Given the description of an element on the screen output the (x, y) to click on. 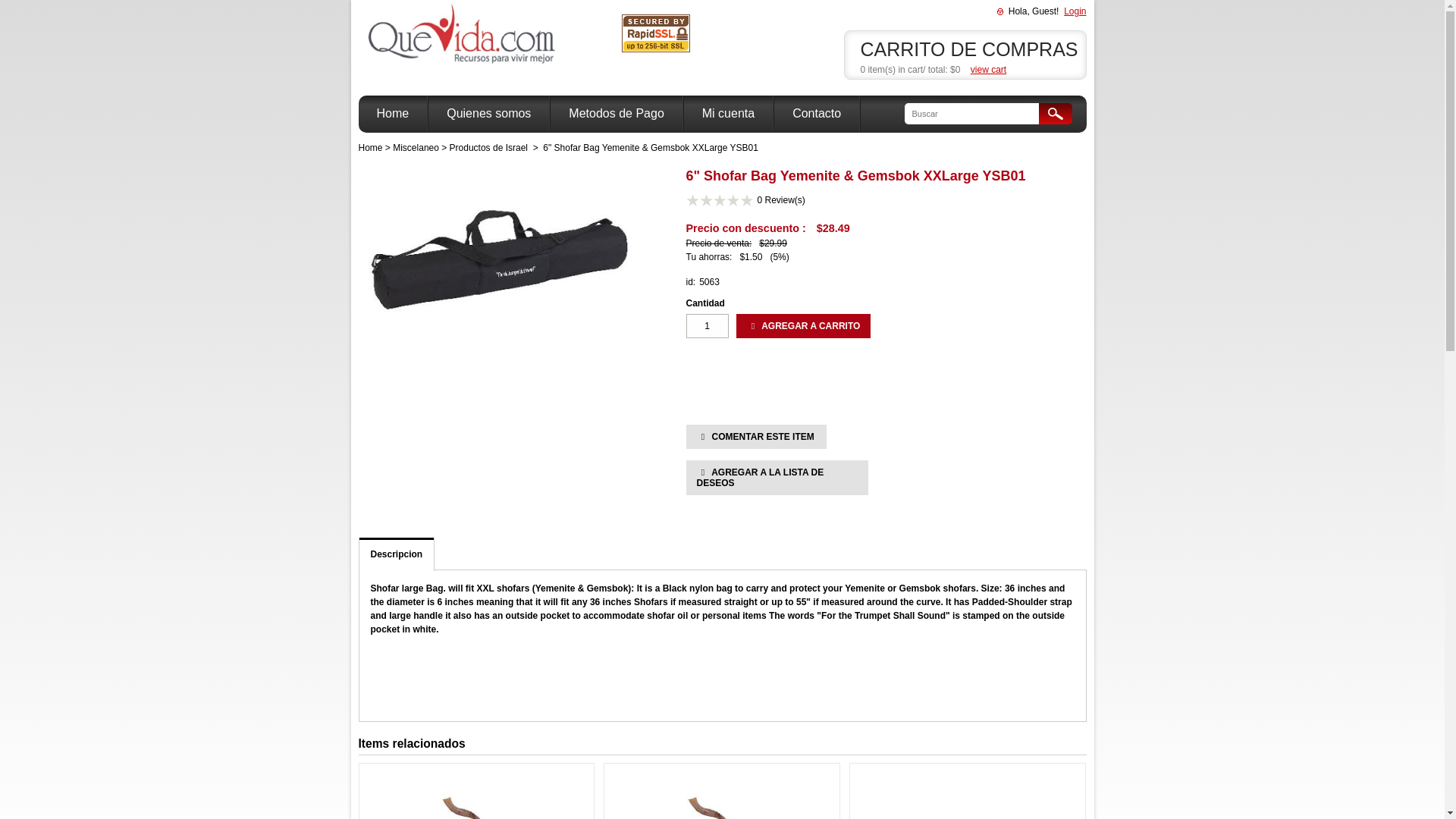
1 (706, 325)
Login (1075, 10)
QueVida.com (510, 34)
view cart (988, 69)
Contacto (816, 113)
Home (392, 113)
Metodos de Pago (615, 113)
Productos de Israel (488, 147)
Home (369, 147)
Quienes somos (488, 113)
Mi cuenta (728, 113)
Miscelaneo (416, 147)
AGREGAR A CARRITO (802, 325)
